Given the description of an element on the screen output the (x, y) to click on. 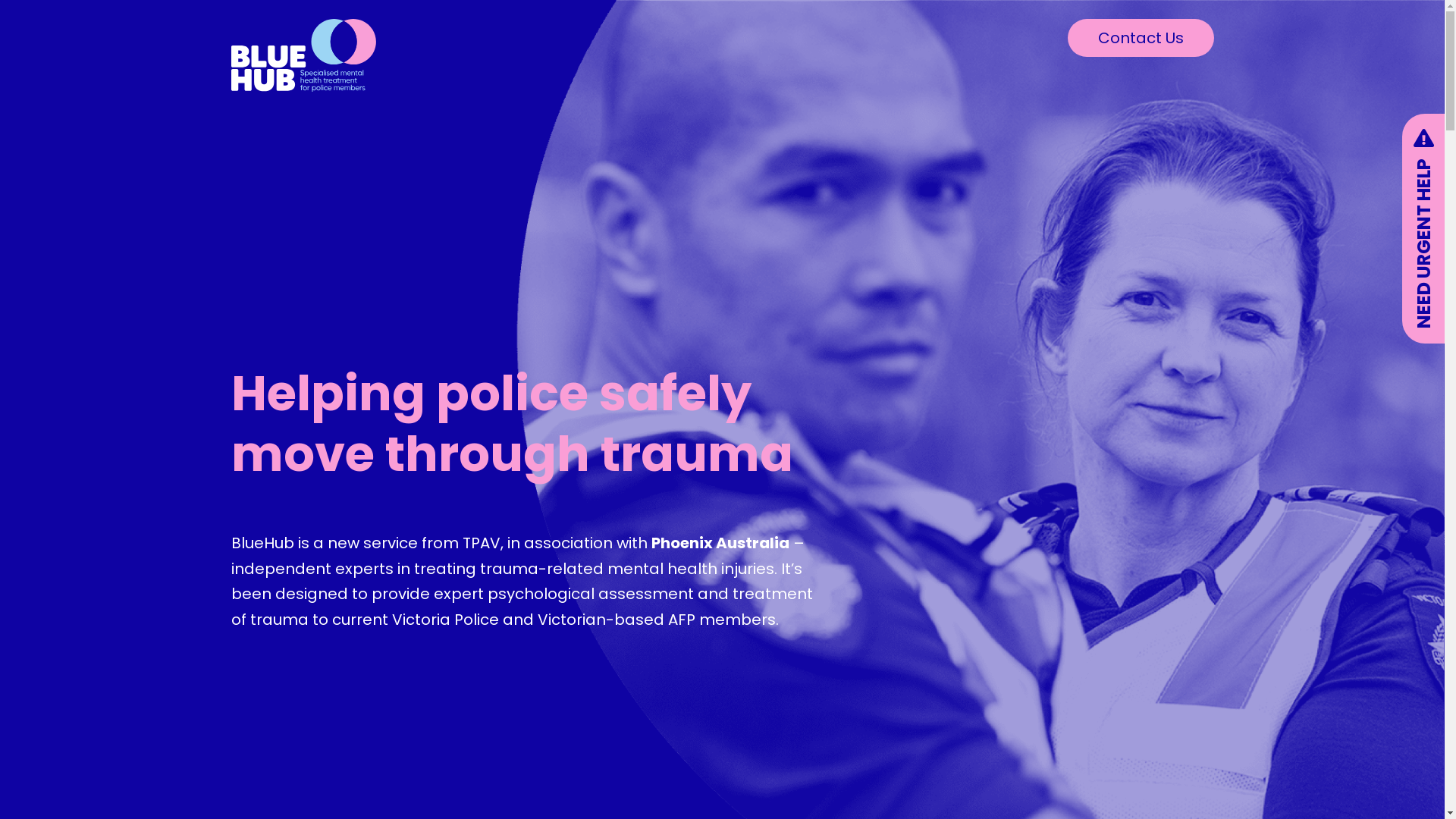
Contact Us Element type: text (1140, 37)
Phoenix Australia Element type: text (719, 542)
